Given the description of an element on the screen output the (x, y) to click on. 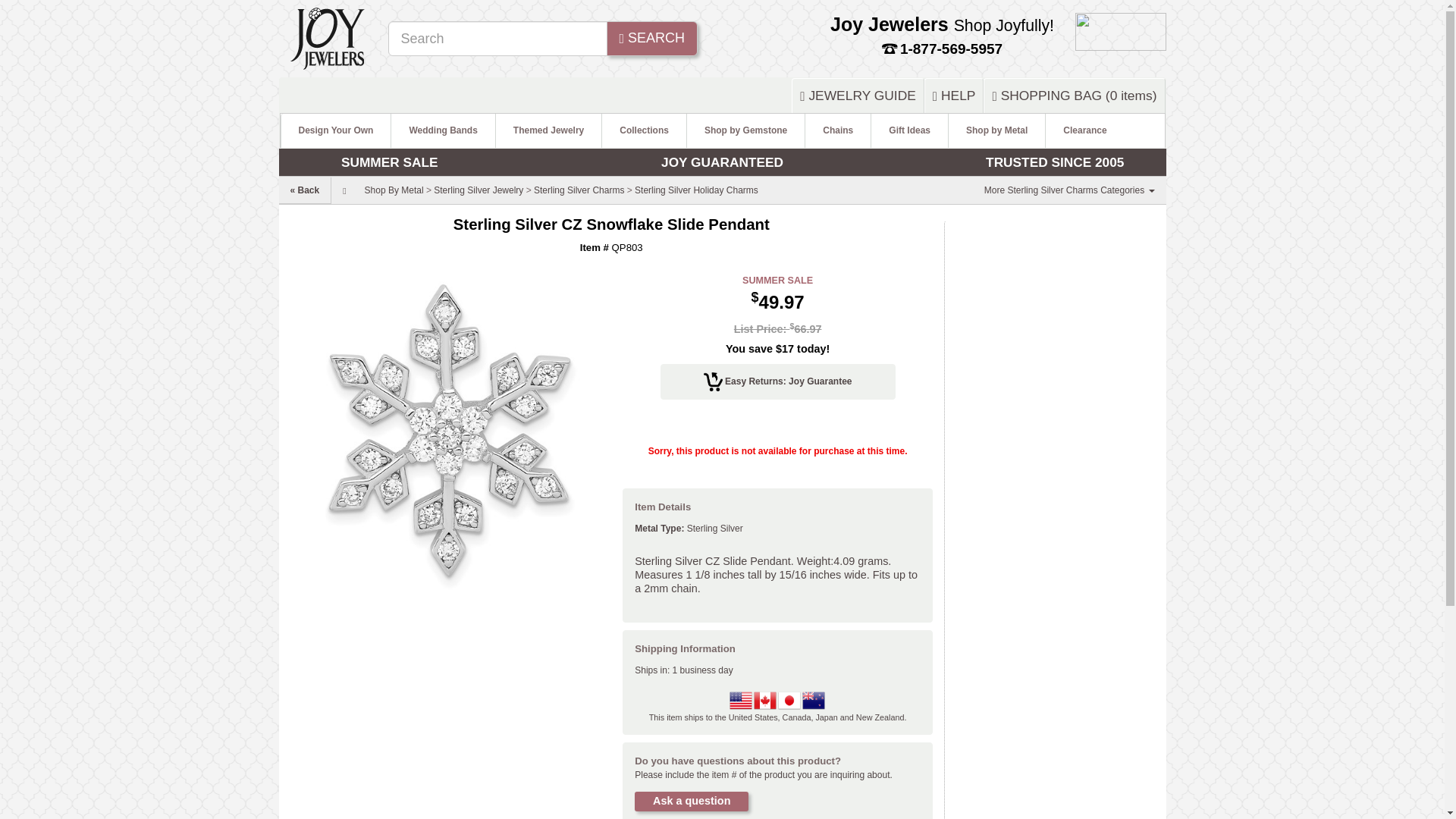
SEARCH (652, 38)
View TrustedSite Certification (1120, 30)
Design Your Own (336, 130)
HELP (954, 95)
JEWELRY GUIDE (857, 95)
